Given the description of an element on the screen output the (x, y) to click on. 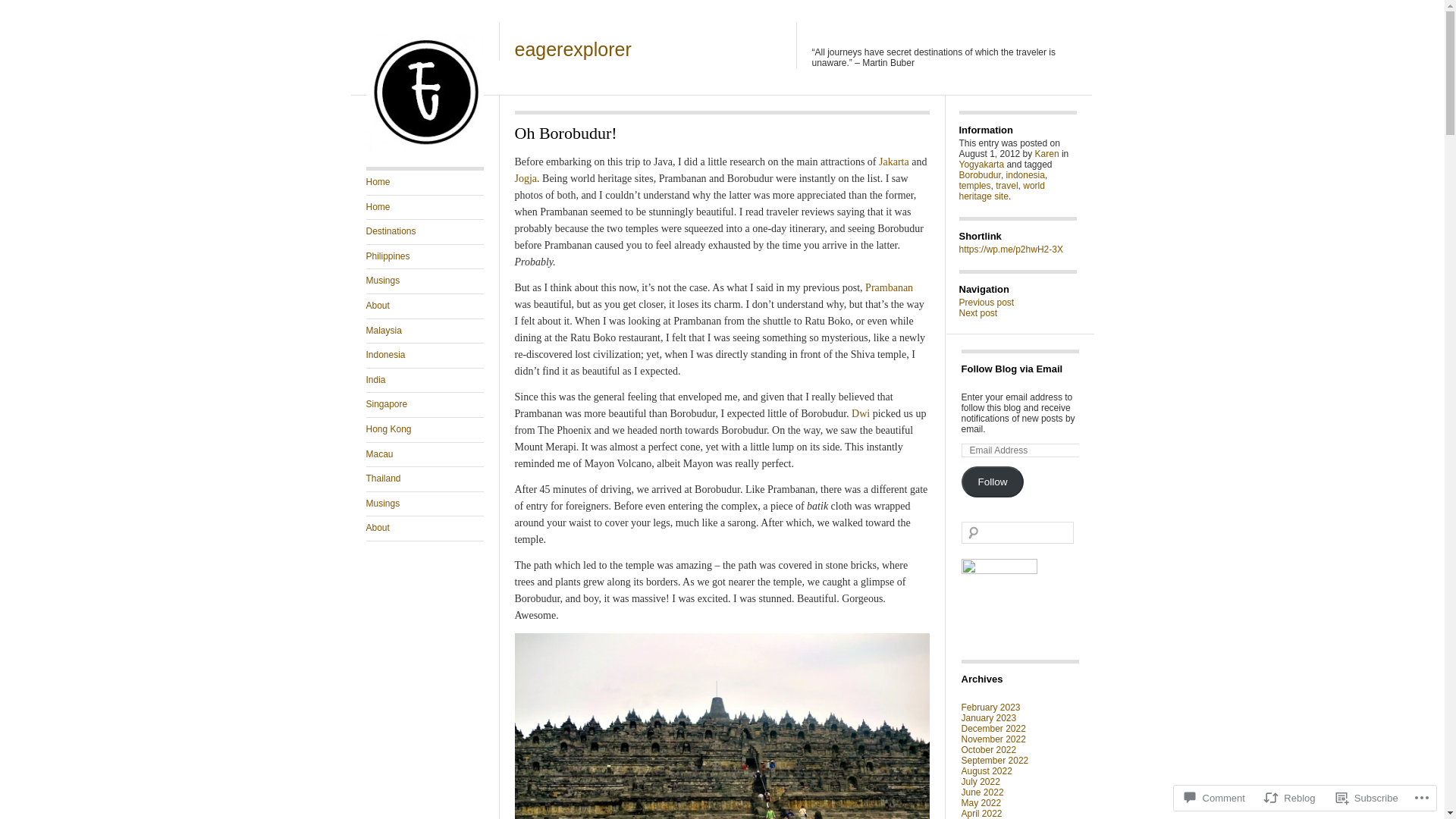
eagerexplorer (424, 148)
India (424, 380)
Home (424, 207)
Malaysia (424, 331)
Philippines (424, 256)
Home (424, 182)
Singapore (424, 404)
Indonesia (424, 355)
Hong Kong (424, 429)
borobudur (720, 726)
Musings (424, 281)
About (424, 306)
Macau (424, 454)
Thailand (424, 478)
